Given the description of an element on the screen output the (x, y) to click on. 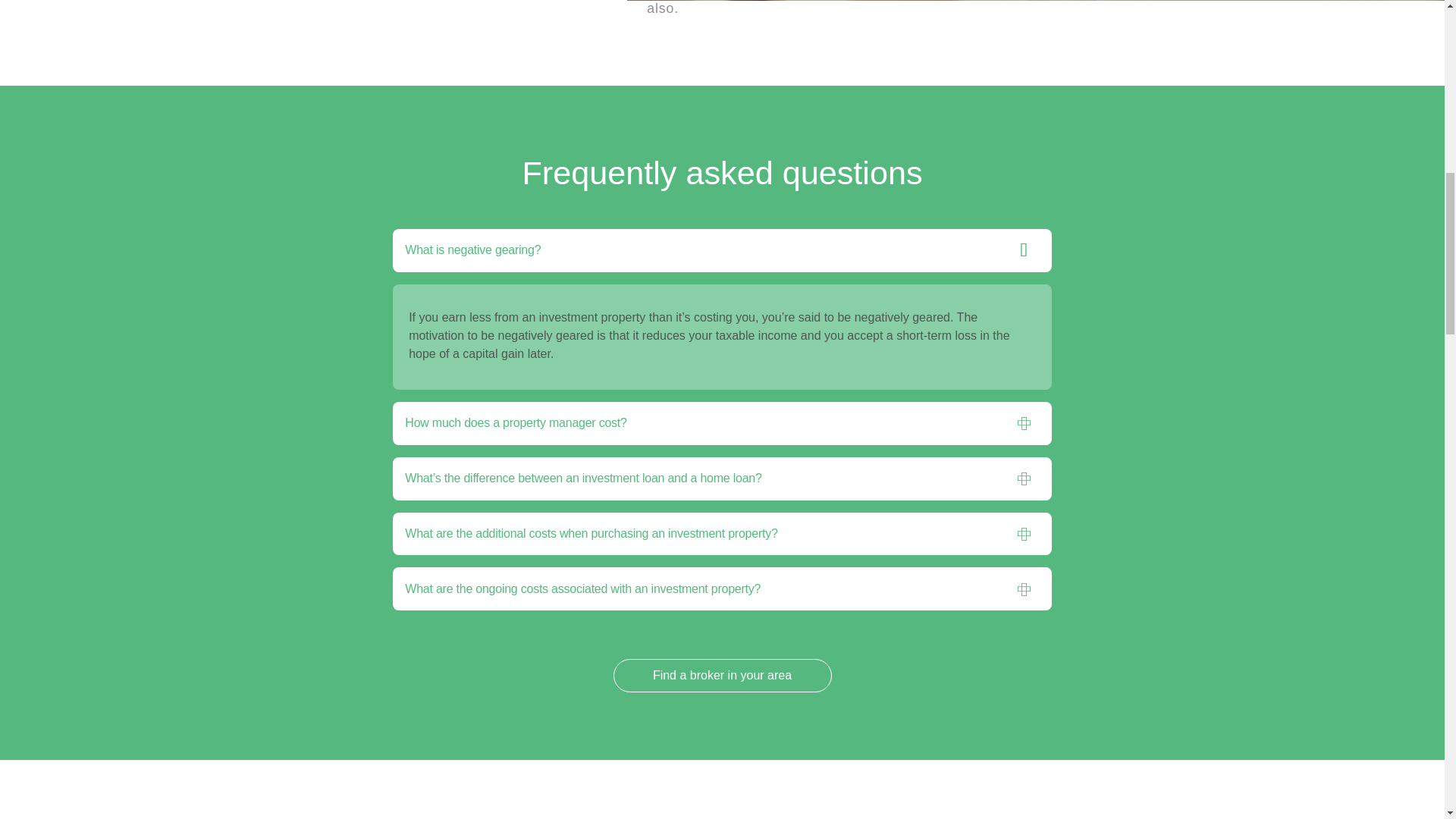
Find a broker in your area (721, 675)
How much does a property manager cost? (703, 422)
What is negative gearing? (703, 250)
